Given the description of an element on the screen output the (x, y) to click on. 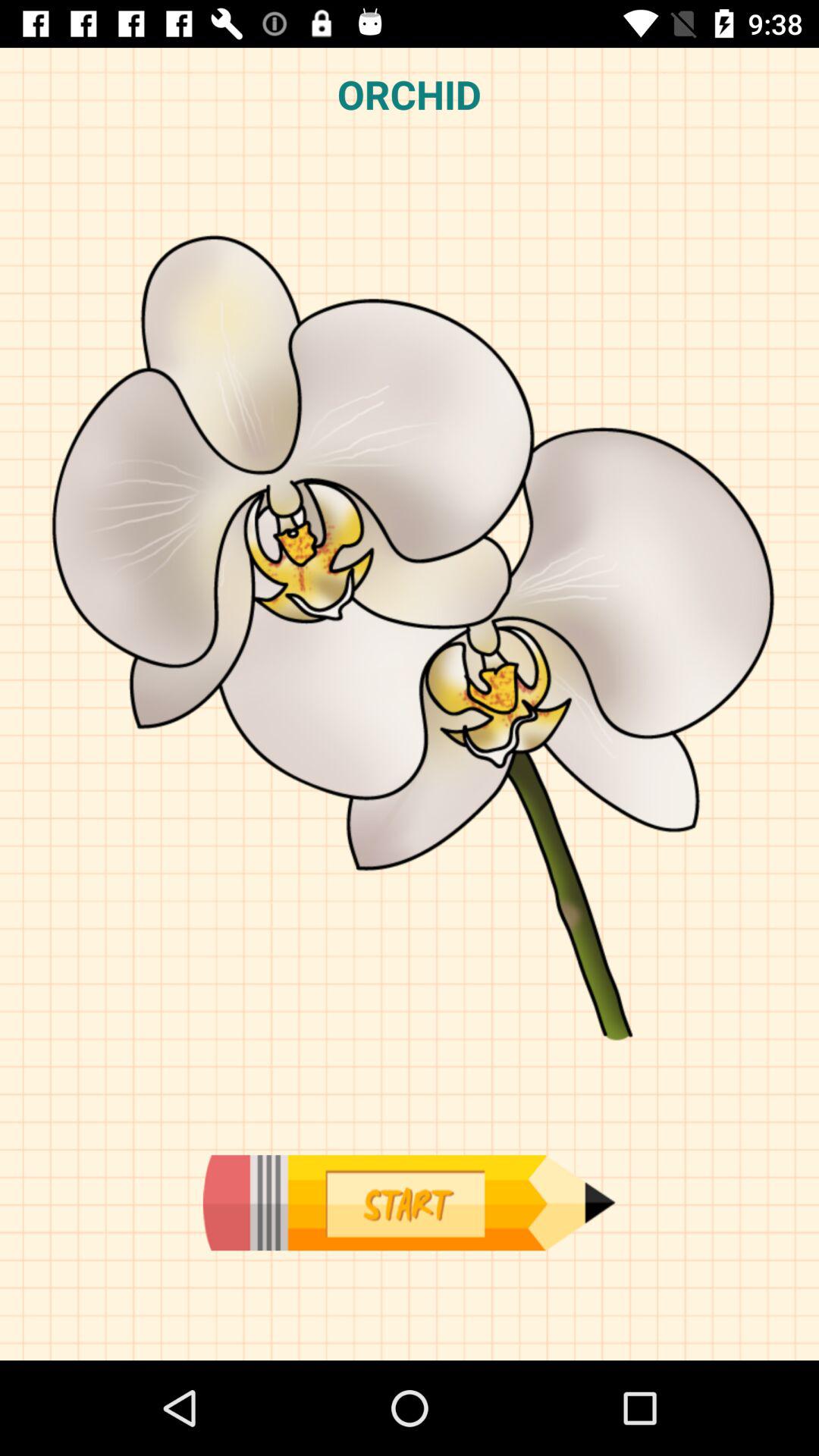
begin playing (409, 1202)
